Given the description of an element on the screen output the (x, y) to click on. 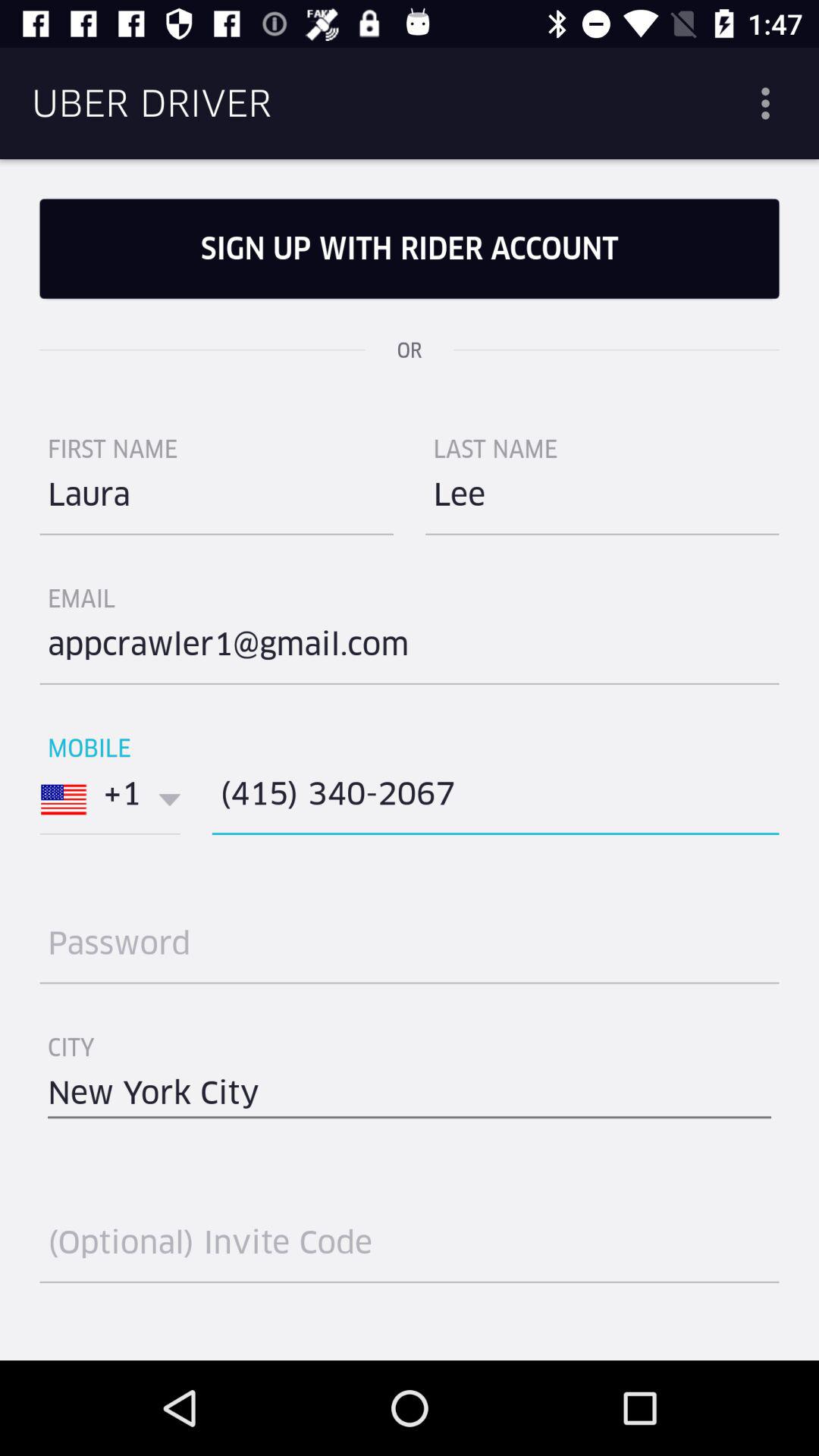
enter optional invite code (409, 1248)
